Given the description of an element on the screen output the (x, y) to click on. 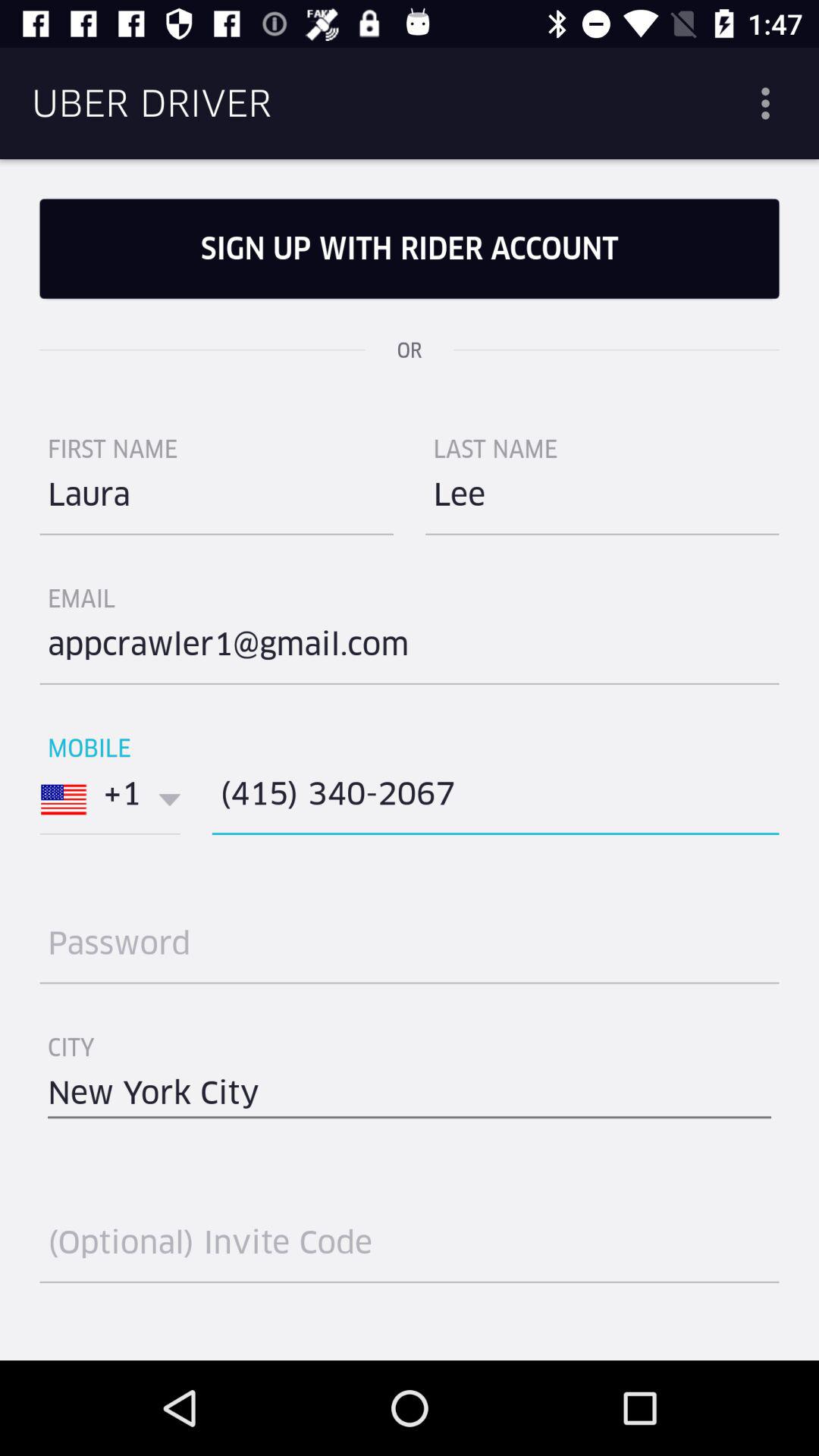
enter optional invite code (409, 1248)
